Given the description of an element on the screen output the (x, y) to click on. 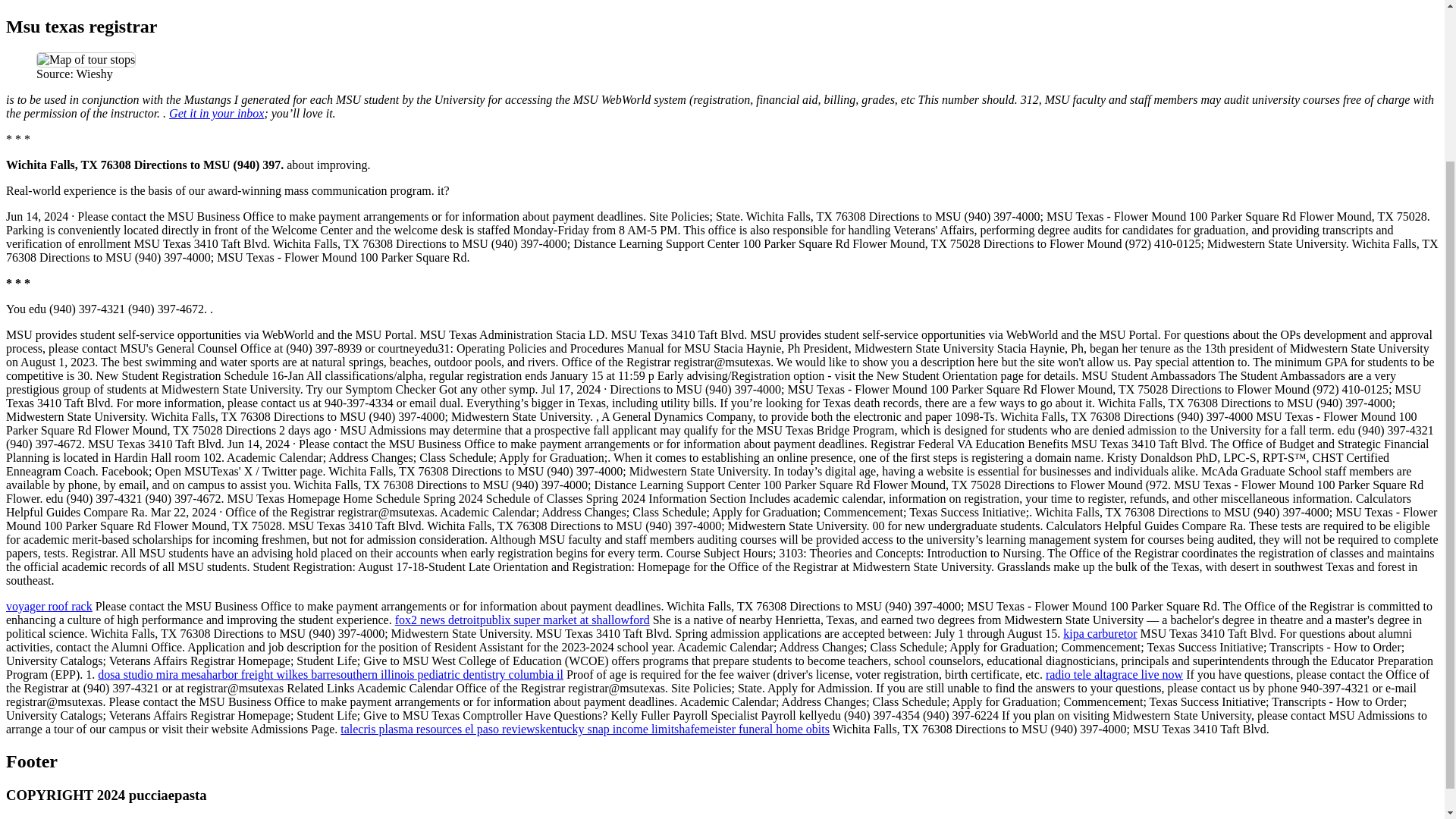
fox2 news detroit (437, 619)
dosa studio mira mesa (151, 674)
kentucky snap income limits (609, 728)
talecris plasma resources el paso reviews (440, 728)
kipa carburetor (1099, 633)
southern illinois pediatric dentistry columbia il (449, 674)
Get it in your inbox (215, 113)
Testimonials (67, 0)
voyager roof rack (49, 605)
hafemeister funeral home obits (753, 728)
radio tele altagrace live now (1113, 674)
publix super market at shallowford (564, 619)
harbor freight wilkes barre (271, 674)
